Given the description of an element on the screen output the (x, y) to click on. 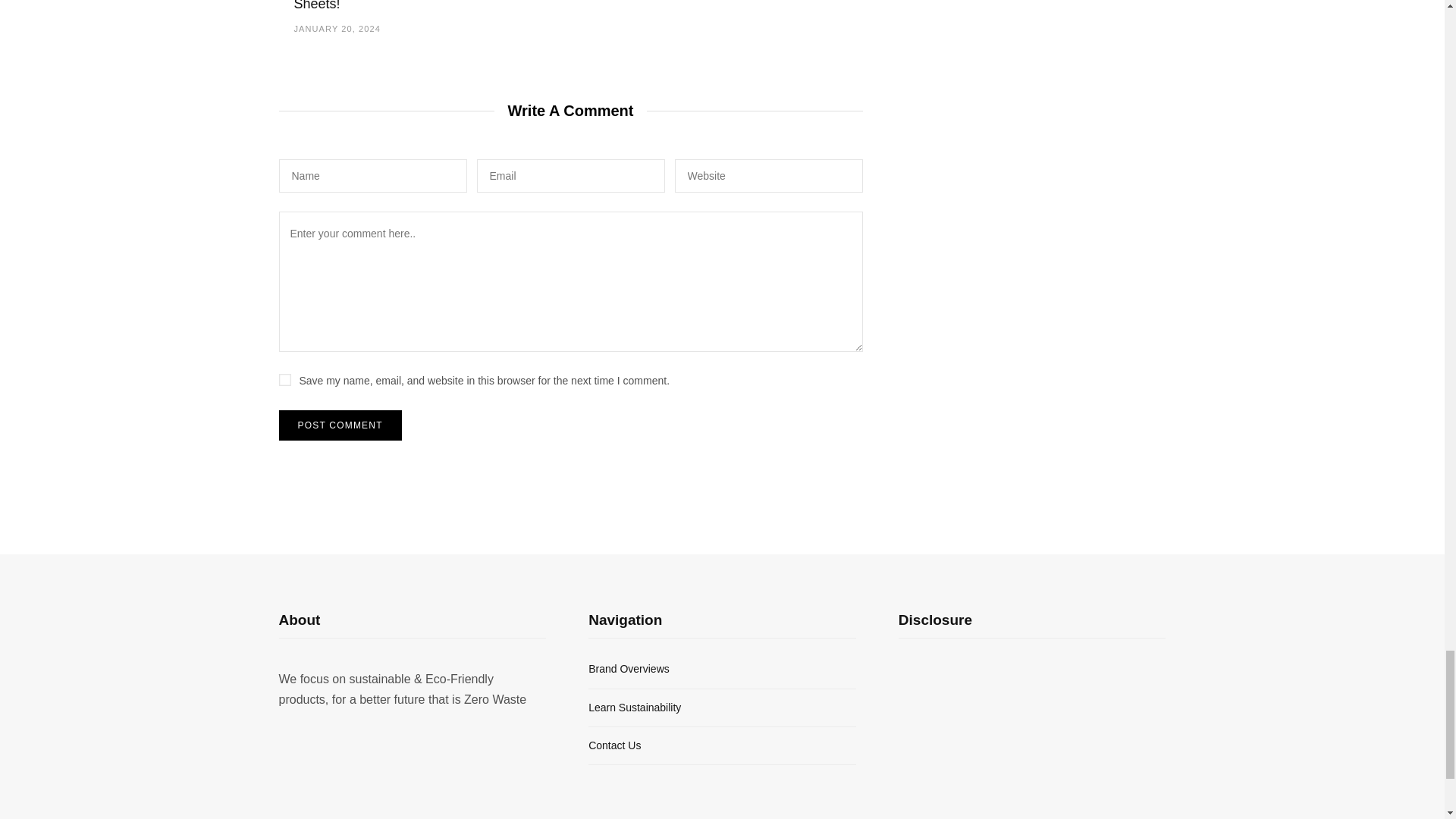
yes (285, 379)
Post Comment (340, 425)
